Given the description of an element on the screen output the (x, y) to click on. 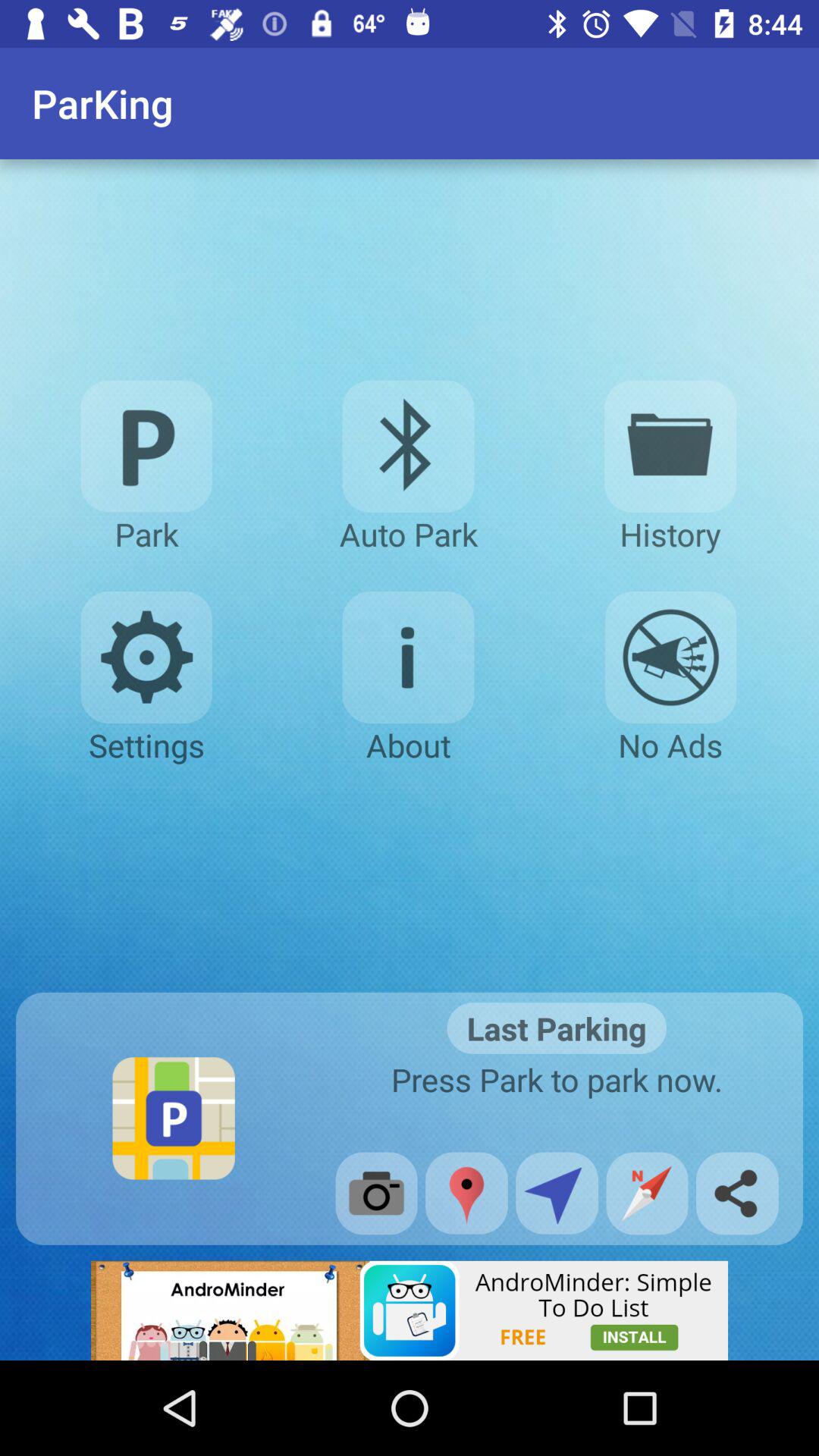
advertisement (409, 1310)
